Given the description of an element on the screen output the (x, y) to click on. 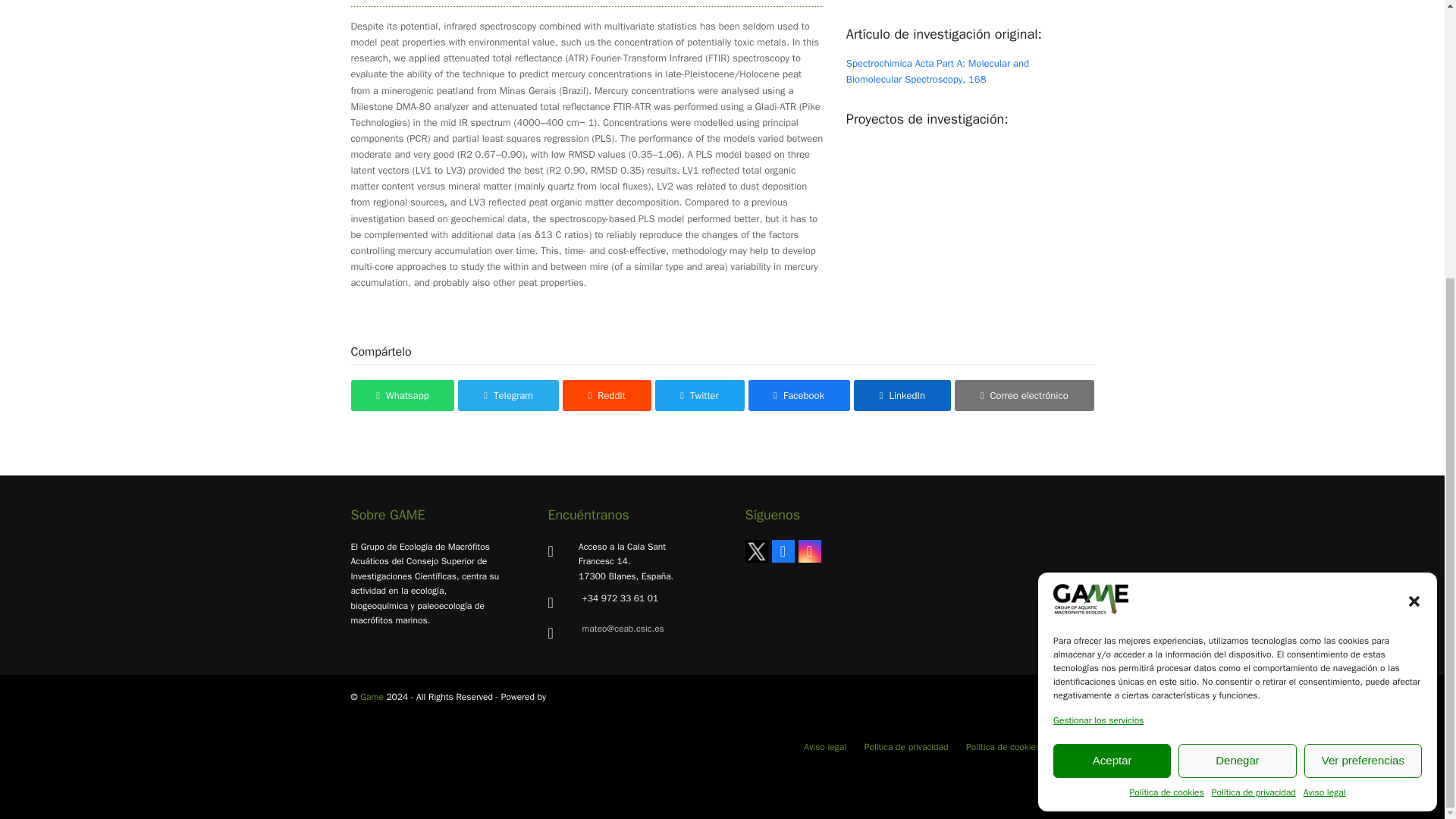
Twitter (755, 550)
Aceptar (1111, 347)
Instagram (809, 550)
Gestionar los servicios (1097, 308)
Aviso legal (1324, 380)
Facebook (782, 550)
Denegar (1236, 347)
Ver preferencias (1363, 347)
